Given the description of an element on the screen output the (x, y) to click on. 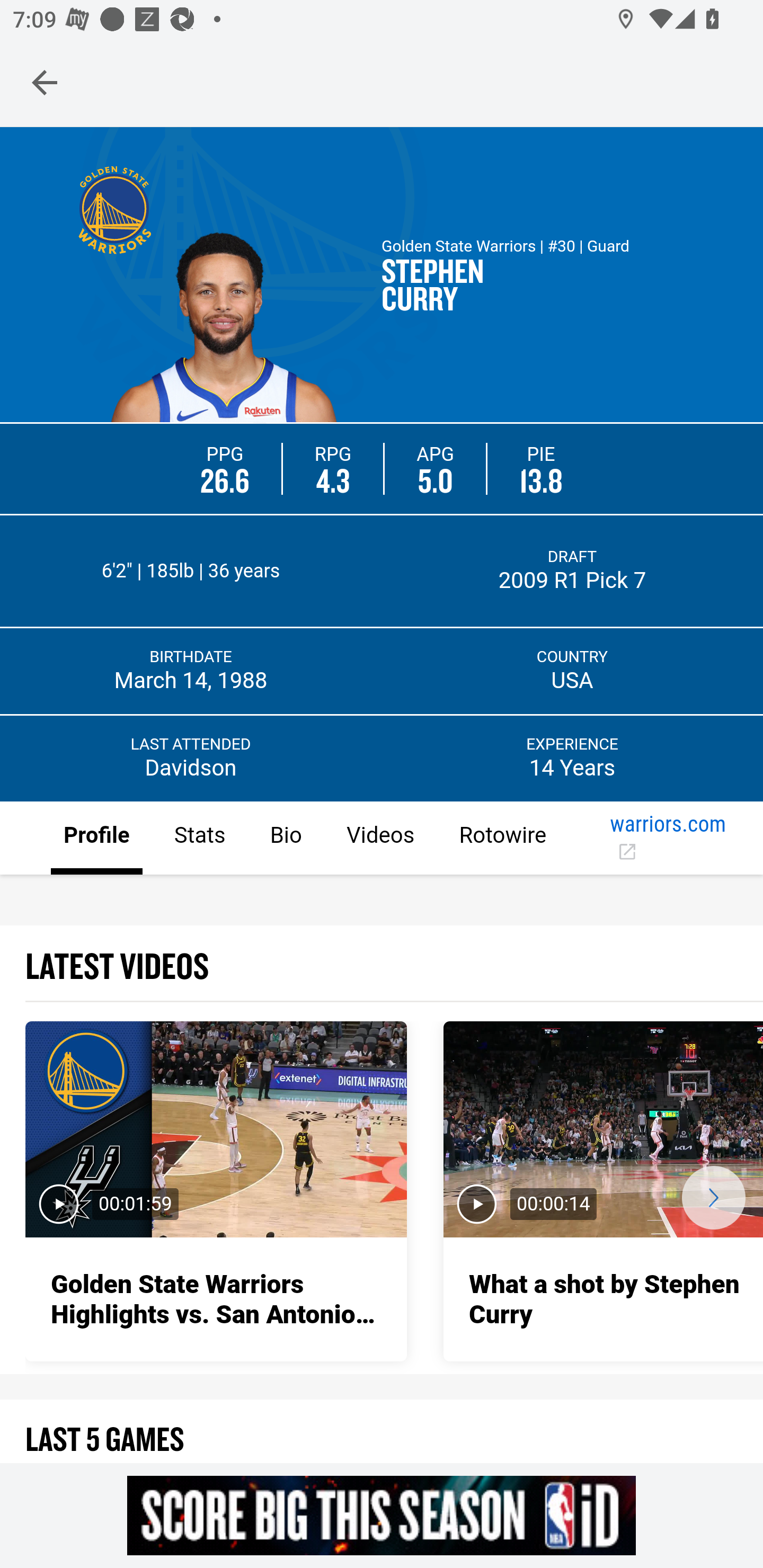
Navigate up (44, 82)
Golden State Warriors Logo (114, 209)
Profile (97, 838)
Stats (199, 838)
Bio (284, 838)
Videos (379, 838)
Rotowire (501, 838)
warriors.com (667, 838)
Carousel Button (713, 1197)
g5nqqygr7owph (381, 1515)
